Given the description of an element on the screen output the (x, y) to click on. 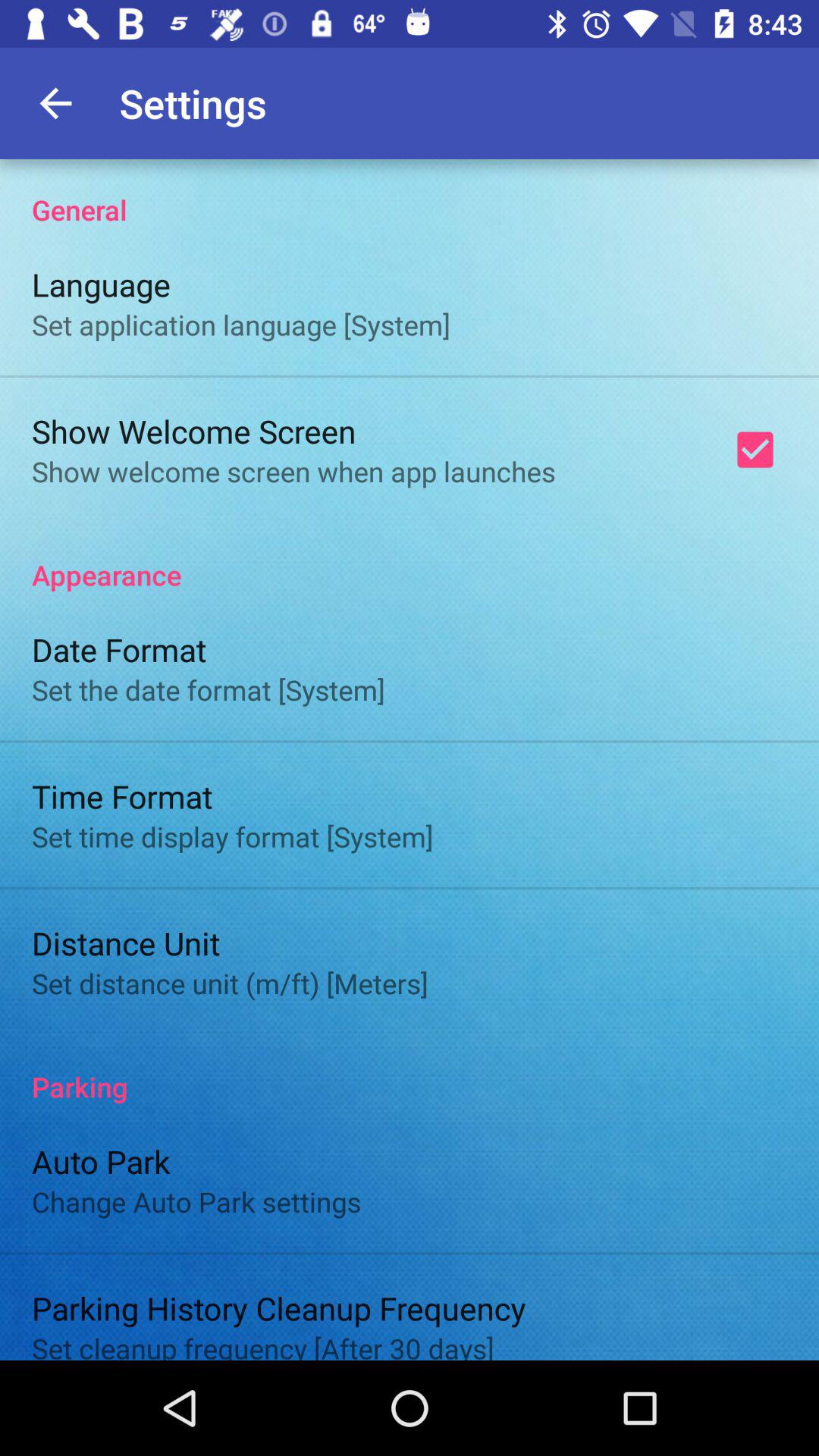
press general icon (409, 193)
